Given the description of an element on the screen output the (x, y) to click on. 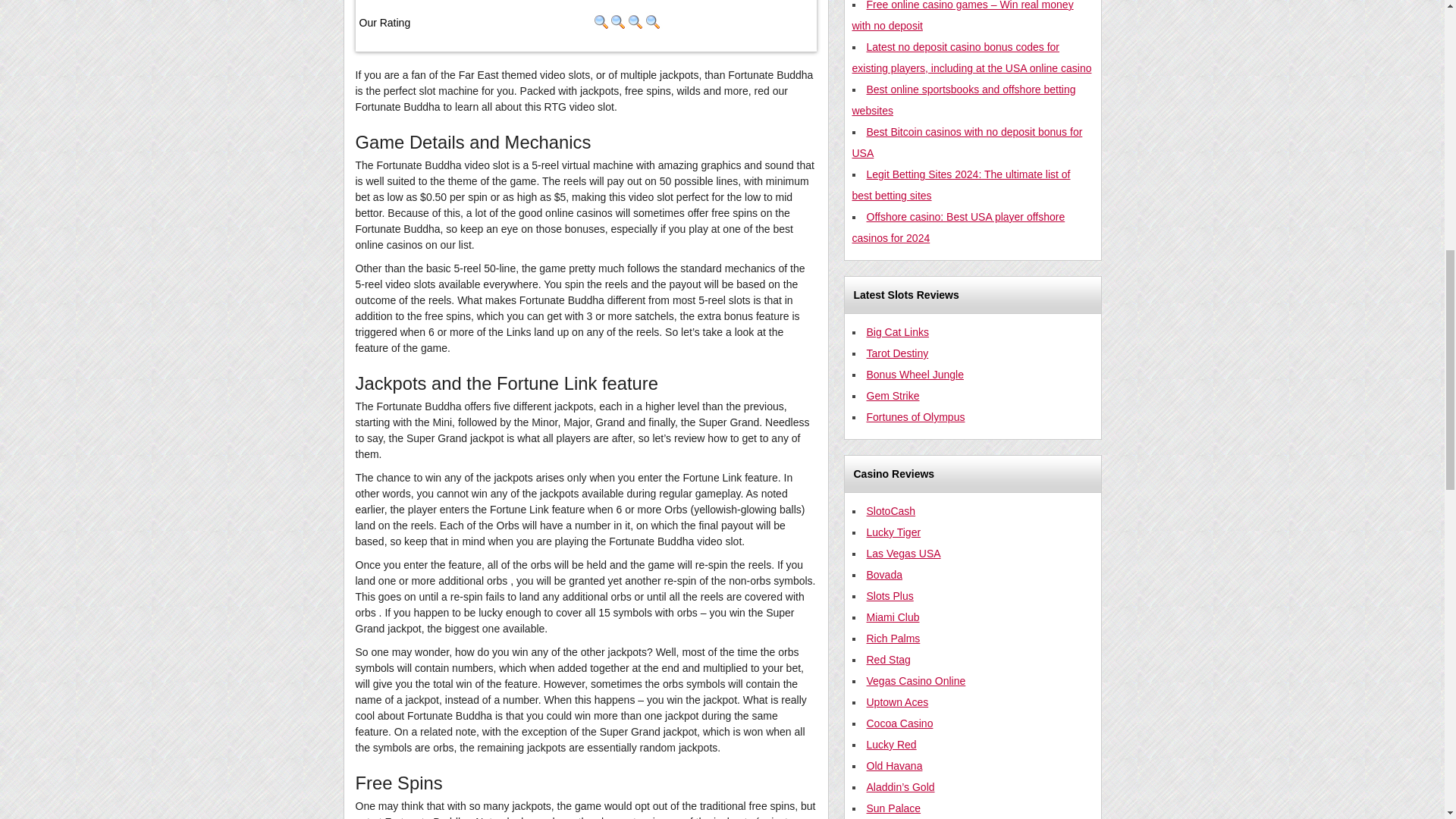
Big Cat Links (897, 331)
Gem Strike (892, 395)
SlotoCash (890, 510)
Lucky Tiger (893, 532)
Las Vegas USA (903, 553)
Tarot Destiny (897, 353)
Best Bitcoin casinos with no deposit bonus for USA (967, 142)
Slots Plus (889, 595)
Best online sportsbooks and offshore betting websites (963, 100)
Bovada (883, 574)
Offshore casino: Best USA player offshore casinos for 2024 (958, 227)
Fortunes of Olympus (914, 417)
Miami Club (892, 616)
